Given the description of an element on the screen output the (x, y) to click on. 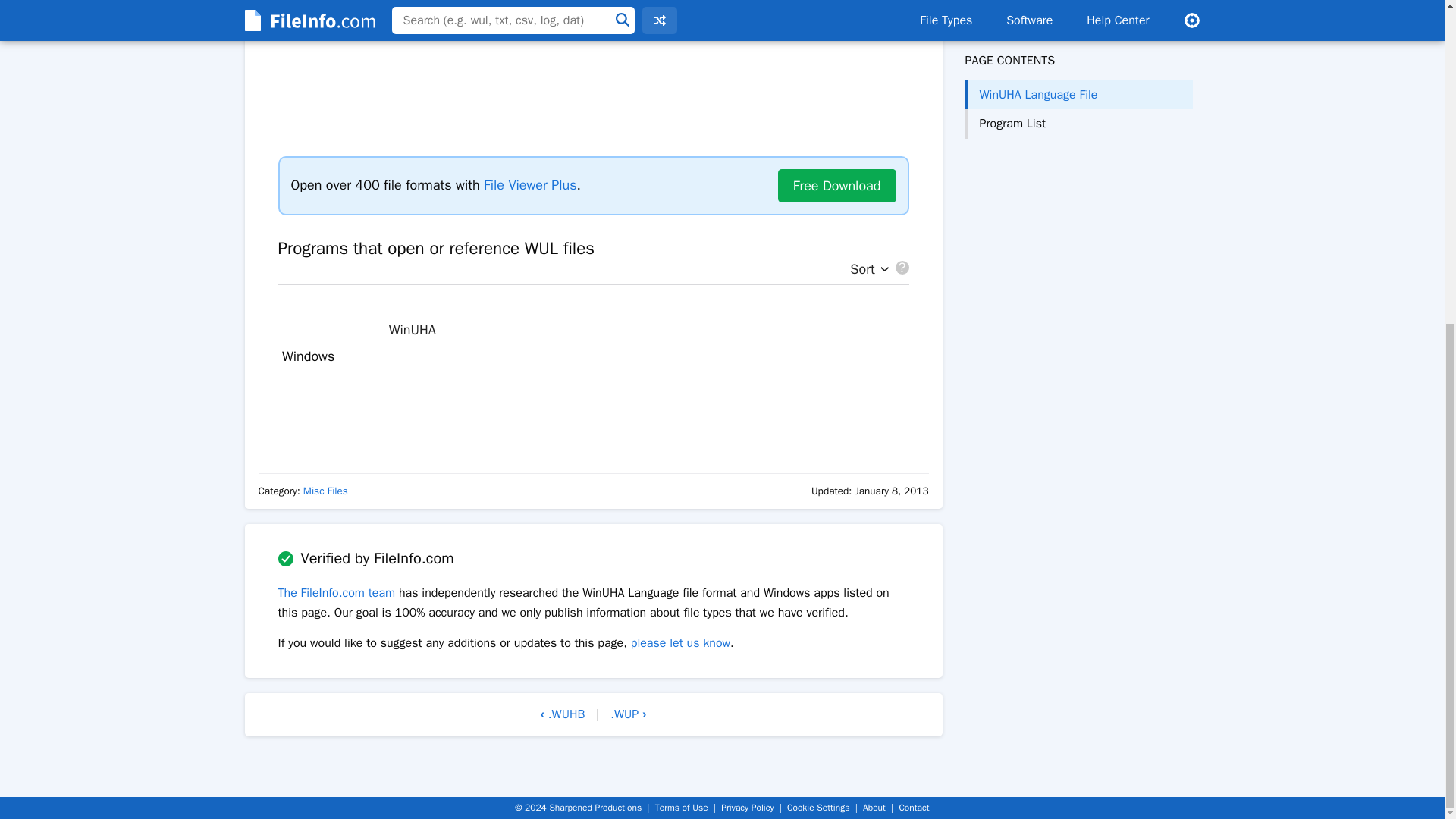
The FileInfo.com team (336, 592)
please let us know (680, 642)
Privacy Policy (746, 807)
3rd party ad content (592, 68)
About (874, 807)
Terms of Use (681, 807)
Misc Files (324, 490)
3rd party ad content (592, 413)
Cookie Settings (817, 807)
Sort (865, 269)
Contact (913, 807)
